Given the description of an element on the screen output the (x, y) to click on. 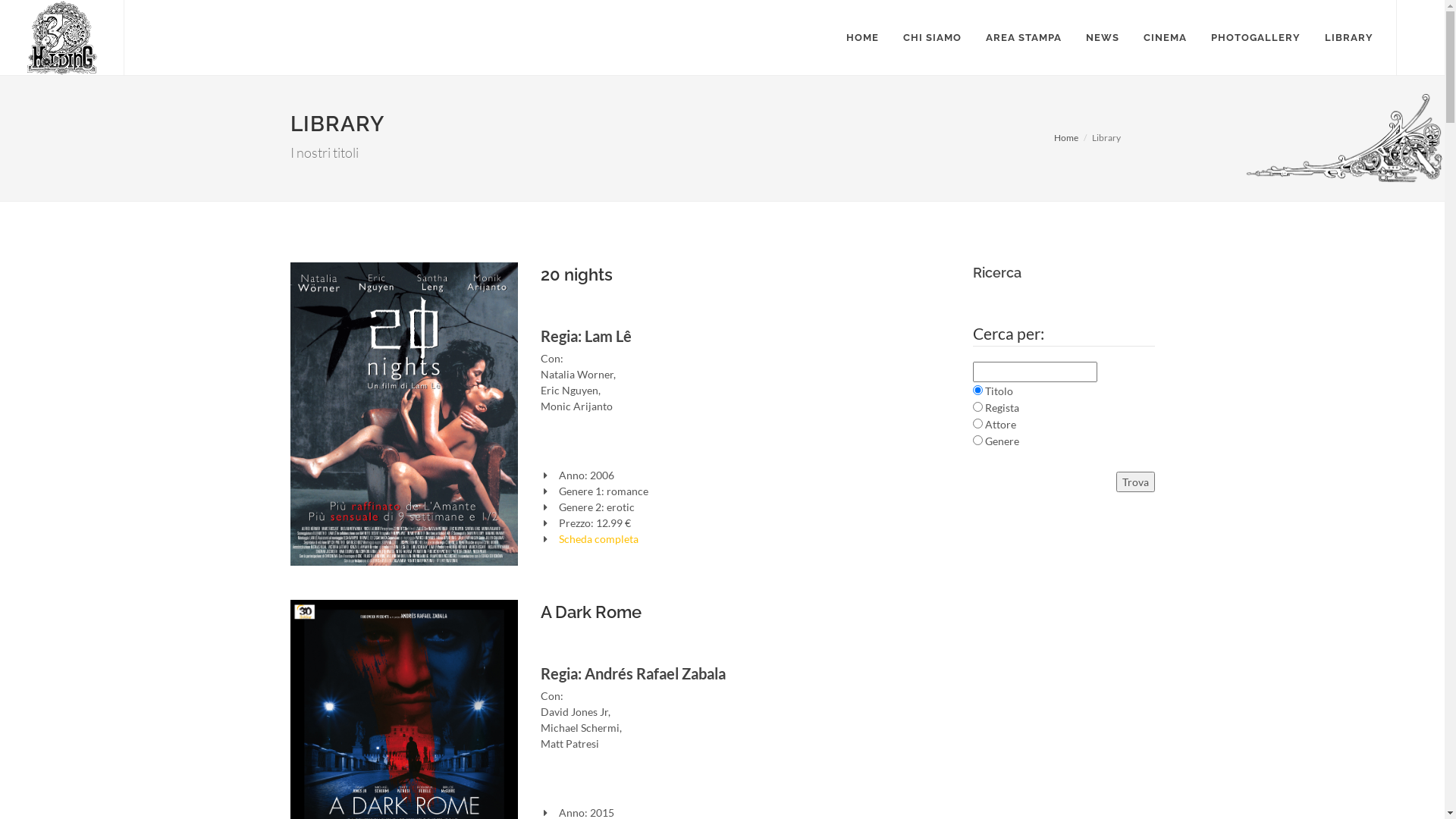
20 nights Element type: text (575, 274)
NEWS Element type: text (1102, 37)
Home Element type: text (1066, 137)
LIBRARY Element type: text (1348, 37)
HOME Element type: text (862, 37)
CINEMA Element type: text (1165, 37)
A Dark Rome Element type: text (589, 611)
AREA STAMPA Element type: text (1023, 37)
Scheda completa Element type: text (598, 538)
PHOTOGALLERY Element type: text (1255, 37)
CHI SIAMO Element type: text (931, 37)
Trova Element type: text (1135, 481)
